Given the description of an element on the screen output the (x, y) to click on. 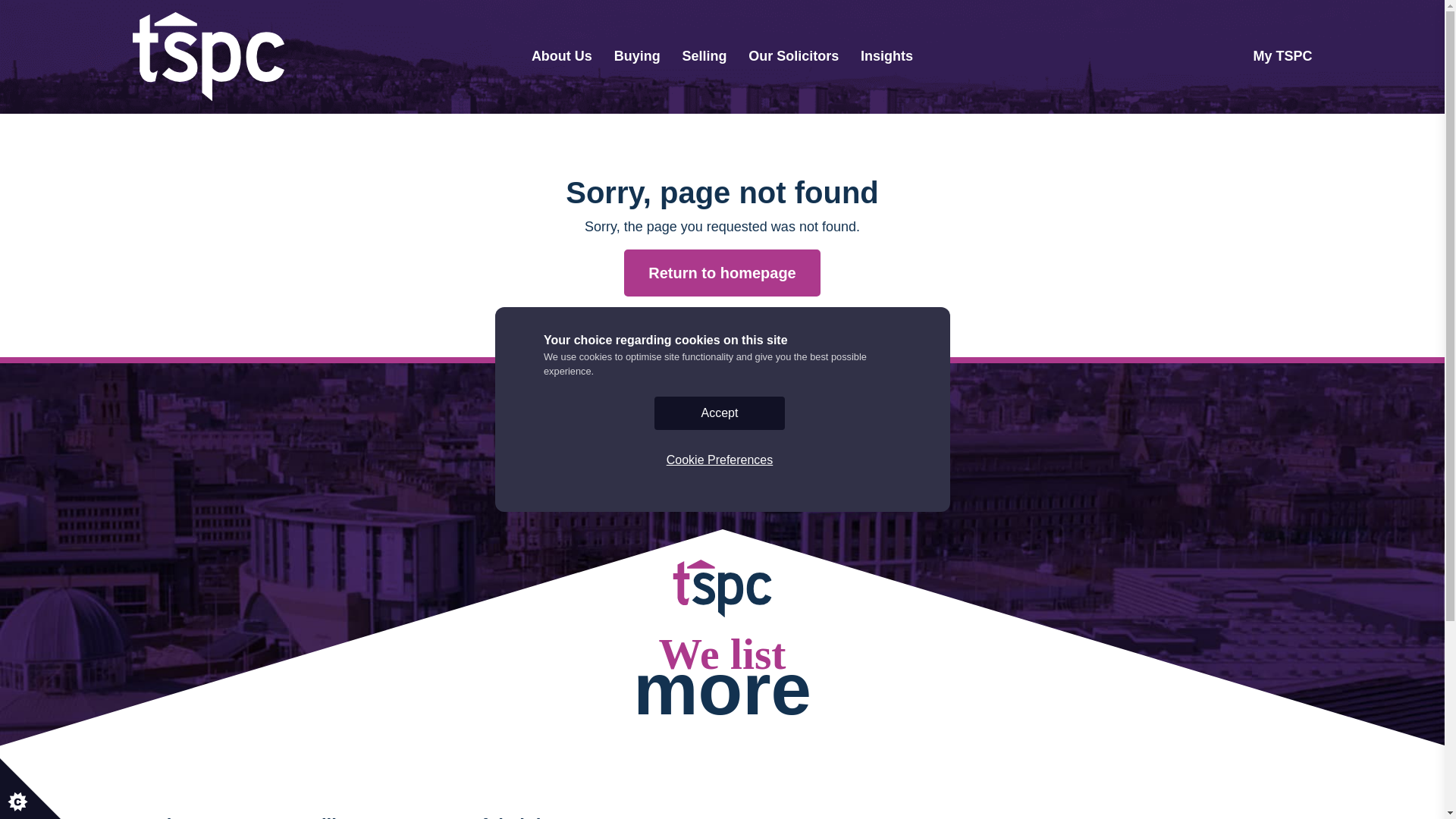
Return to homepage (721, 272)
Cookie Preferences (718, 712)
Accept (718, 688)
Selling (703, 55)
Buying (637, 55)
About Us (561, 55)
My TSPC (1281, 55)
Our Solicitors (793, 55)
Insights (886, 55)
